Given the description of an element on the screen output the (x, y) to click on. 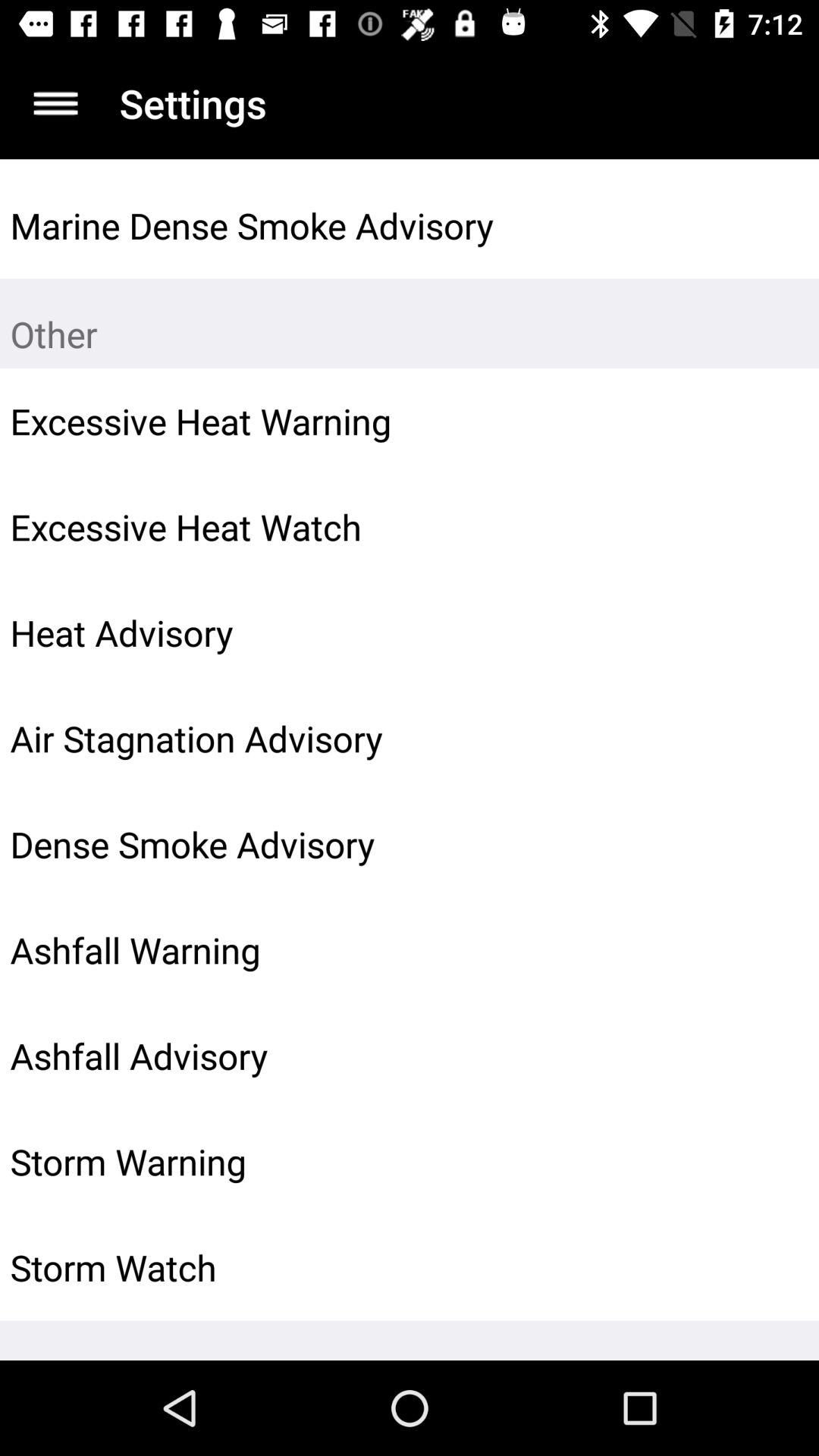
turn on icon above the other icon (771, 225)
